Given the description of an element on the screen output the (x, y) to click on. 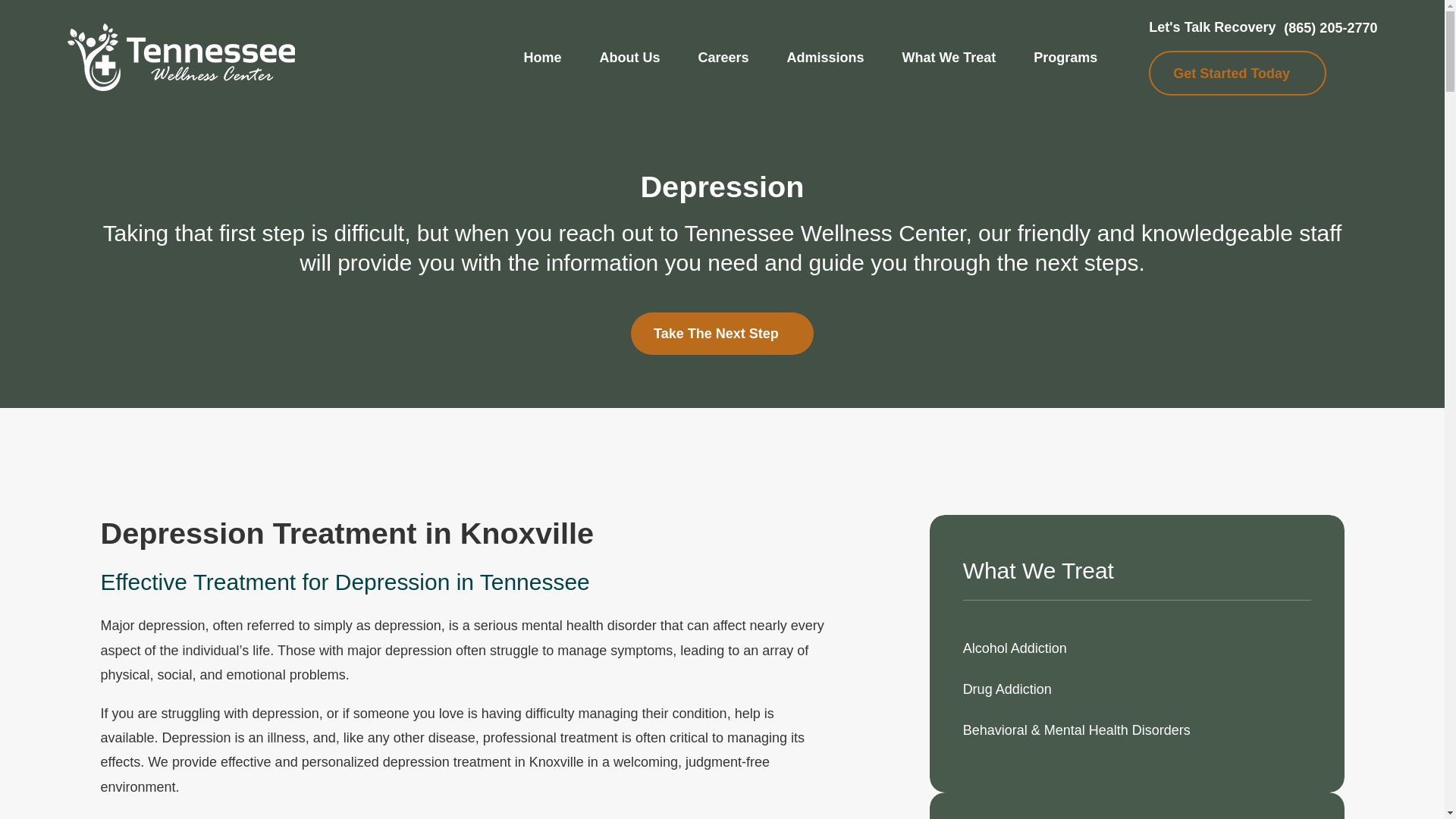
Careers (722, 57)
About Us (628, 57)
Programs (1065, 57)
Admissions (825, 57)
What We Treat (948, 57)
Home (180, 56)
